Given the description of an element on the screen output the (x, y) to click on. 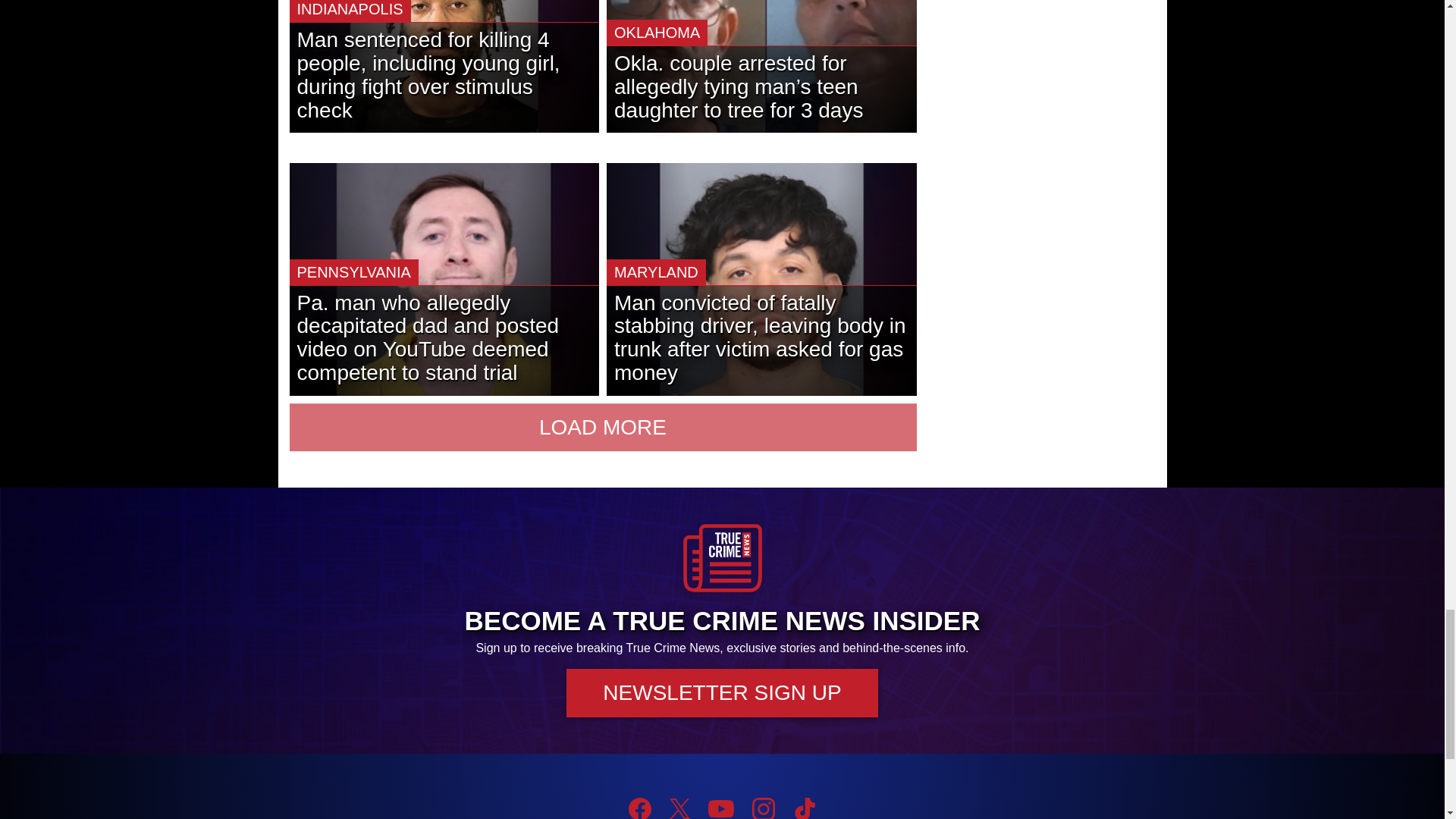
YouTube (720, 809)
Instagram (763, 808)
TikTok (804, 808)
Facebook (639, 808)
Twitter (679, 808)
